Given the description of an element on the screen output the (x, y) to click on. 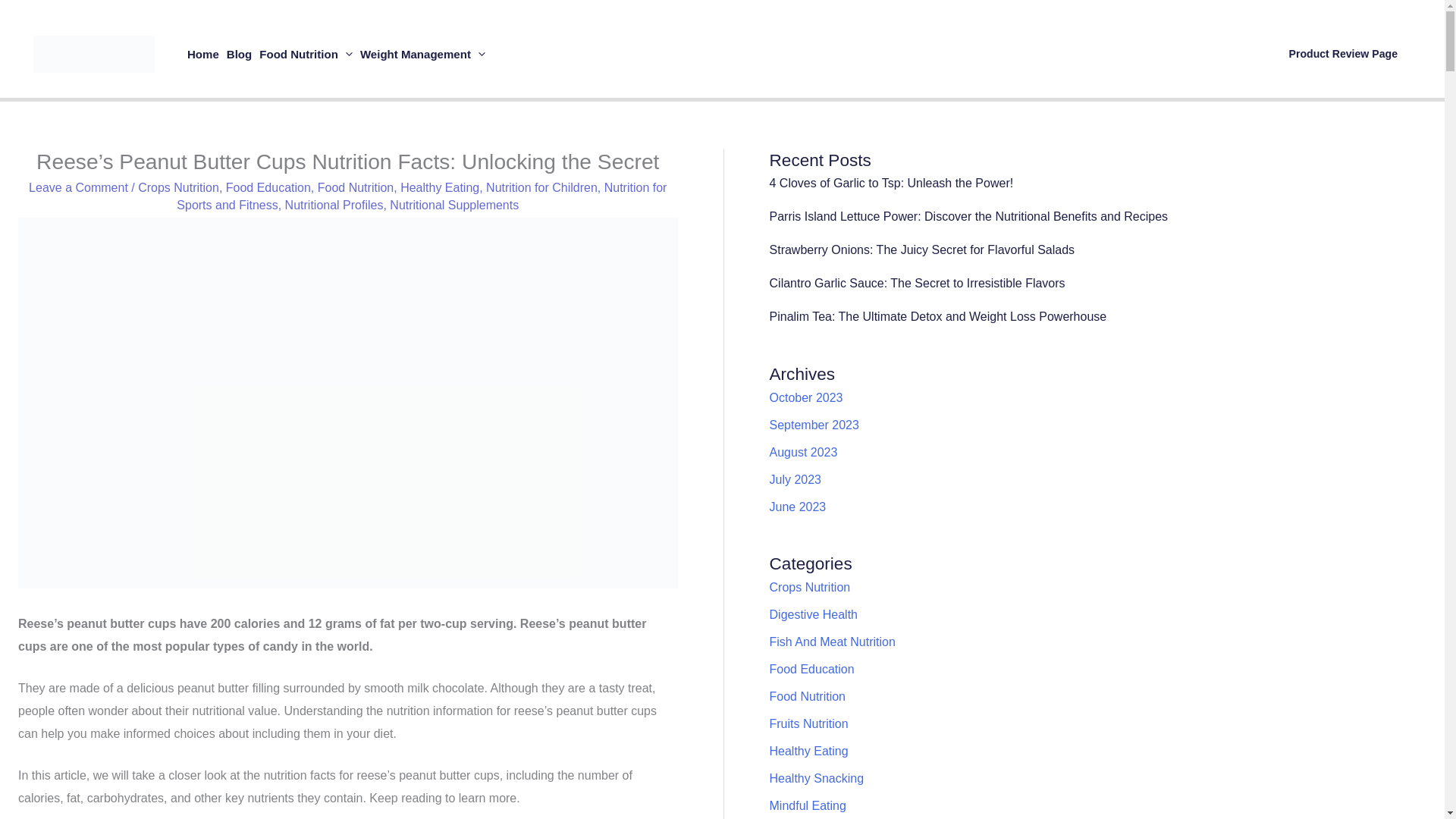
Weight Management (422, 53)
Food Nutrition (306, 53)
Leave a Comment (78, 187)
Crops Nutrition (178, 187)
Product Review Page (1343, 53)
